Given the description of an element on the screen output the (x, y) to click on. 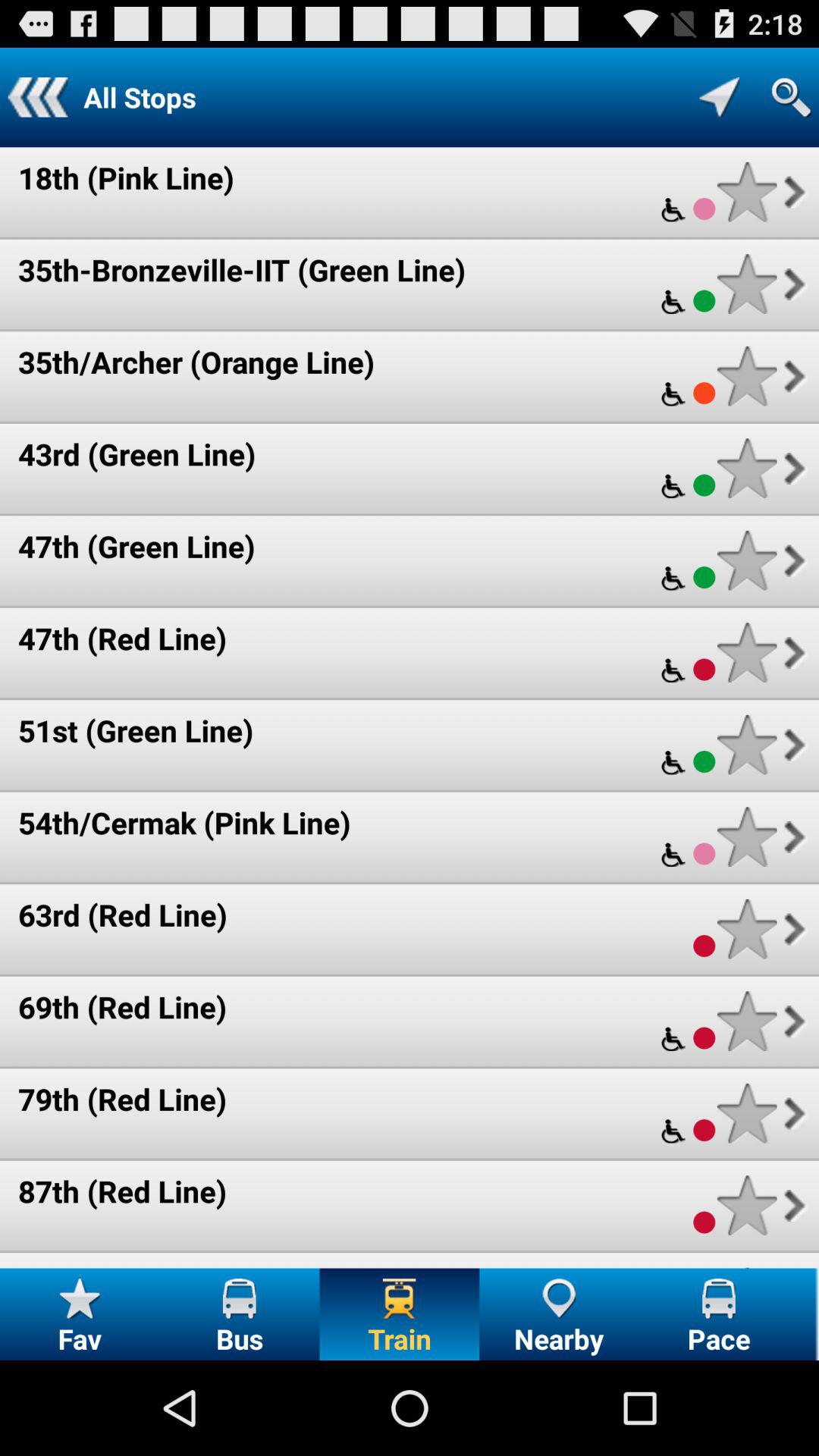
to search (791, 97)
